Given the description of an element on the screen output the (x, y) to click on. 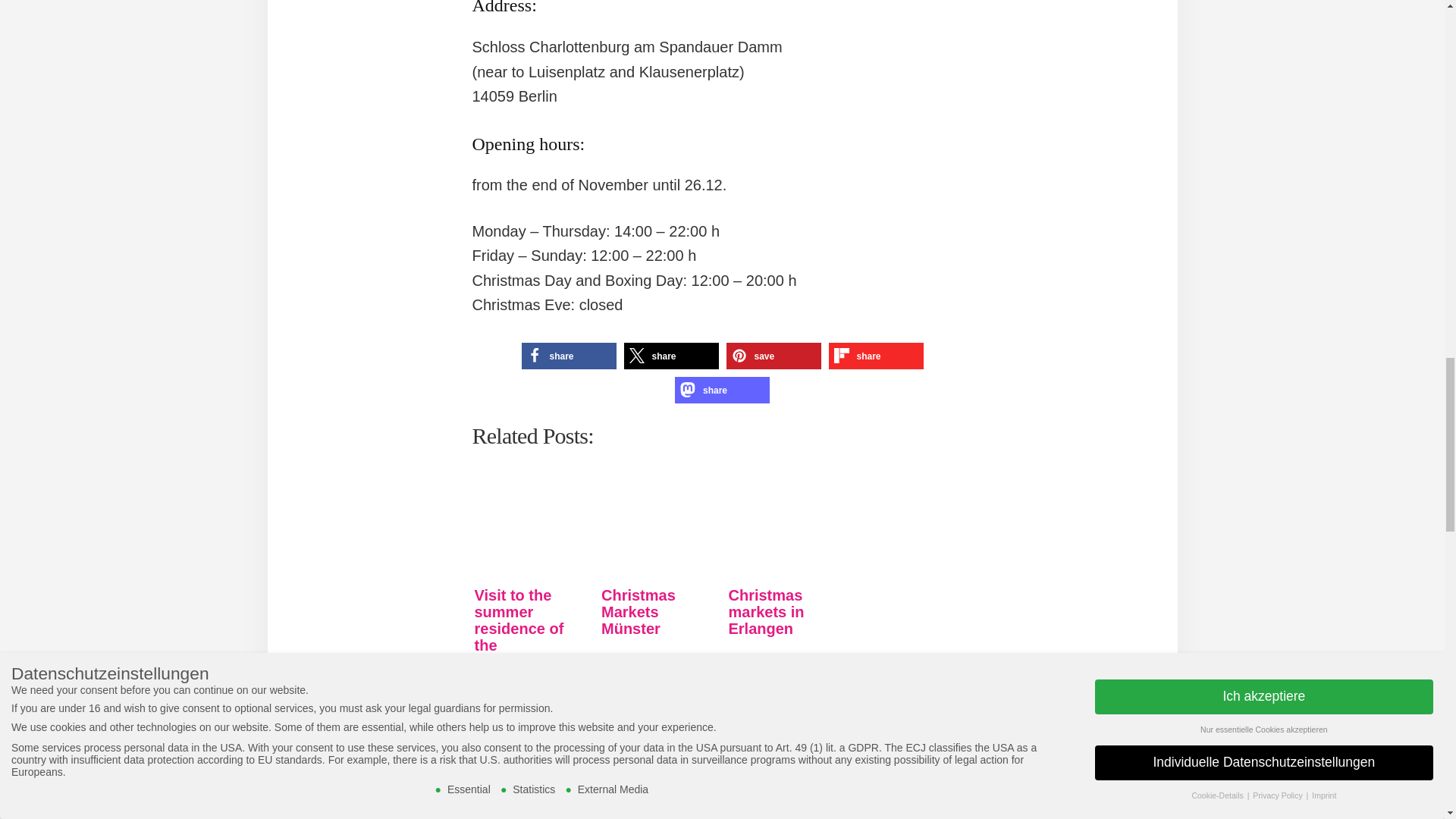
Christmas markets in Erlangen (786, 530)
Share on Flipboard (875, 356)
Pin it on Pinterest (773, 356)
Share on X (670, 356)
Share on Mastodon (722, 389)
Share on Facebook (568, 356)
